Given the description of an element on the screen output the (x, y) to click on. 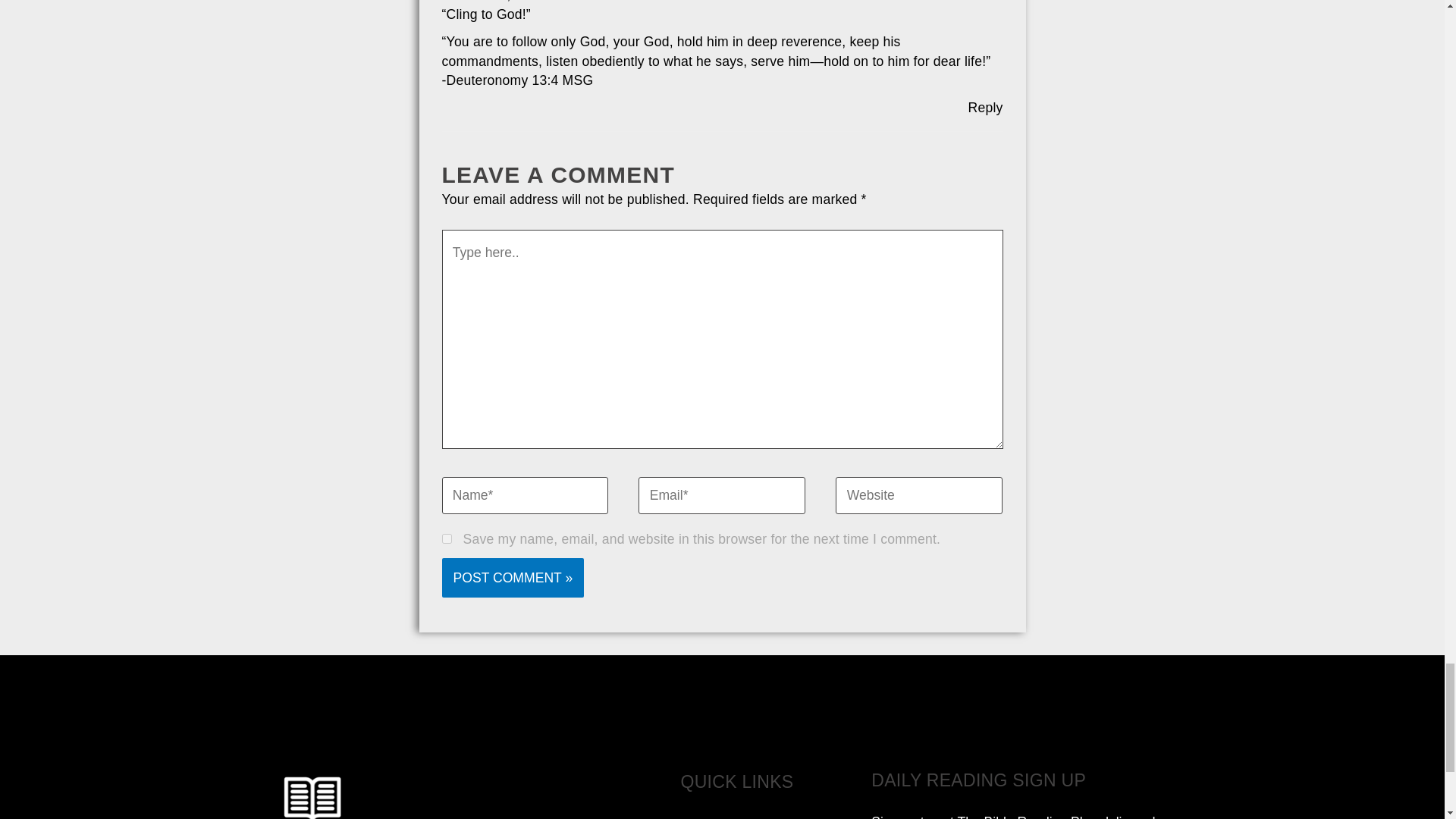
Reply (985, 107)
yes (446, 538)
biblereadingplan-brand-iconsmall (312, 792)
